Given the description of an element on the screen output the (x, y) to click on. 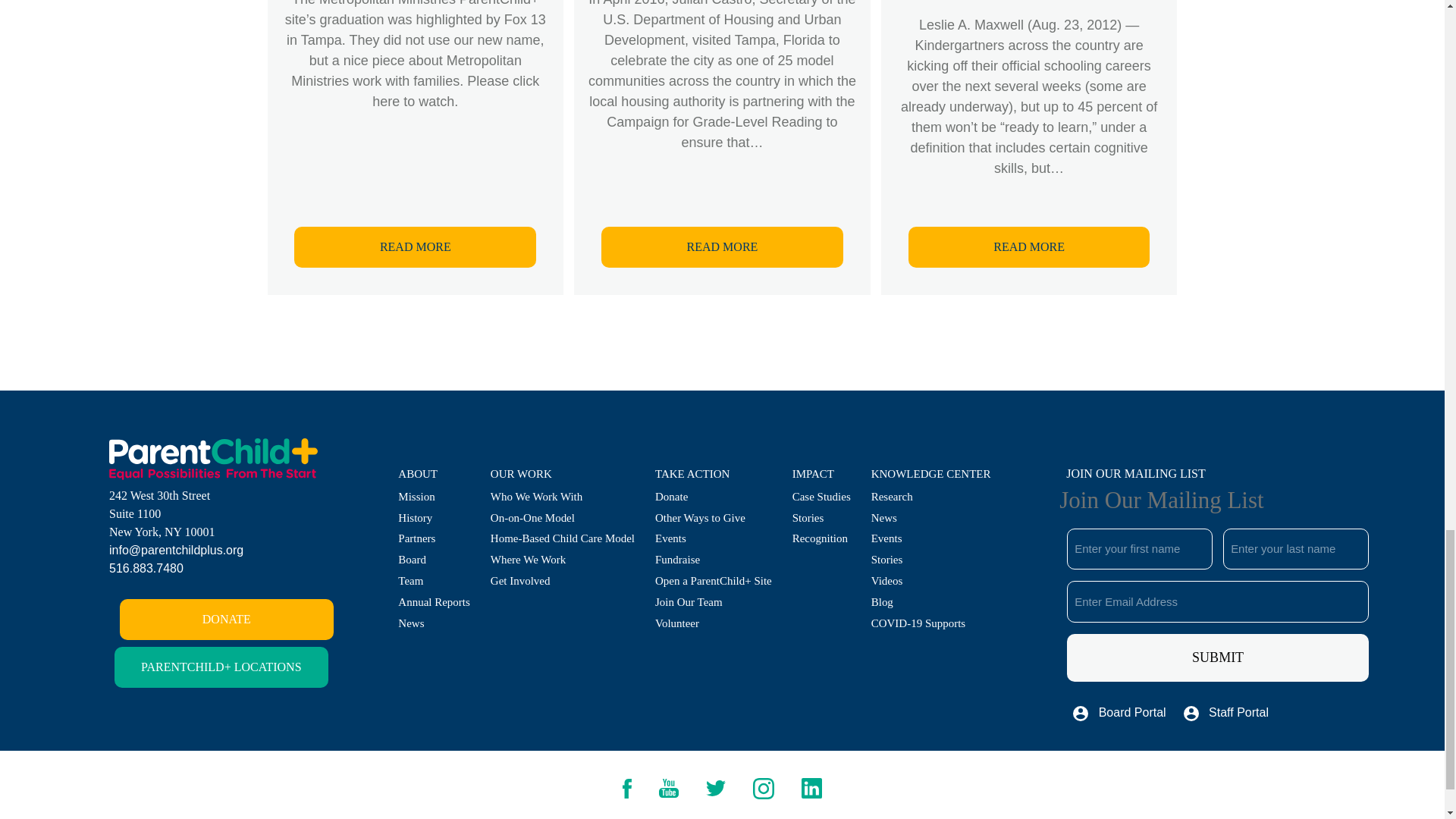
Submit (1217, 657)
